Given the description of an element on the screen output the (x, y) to click on. 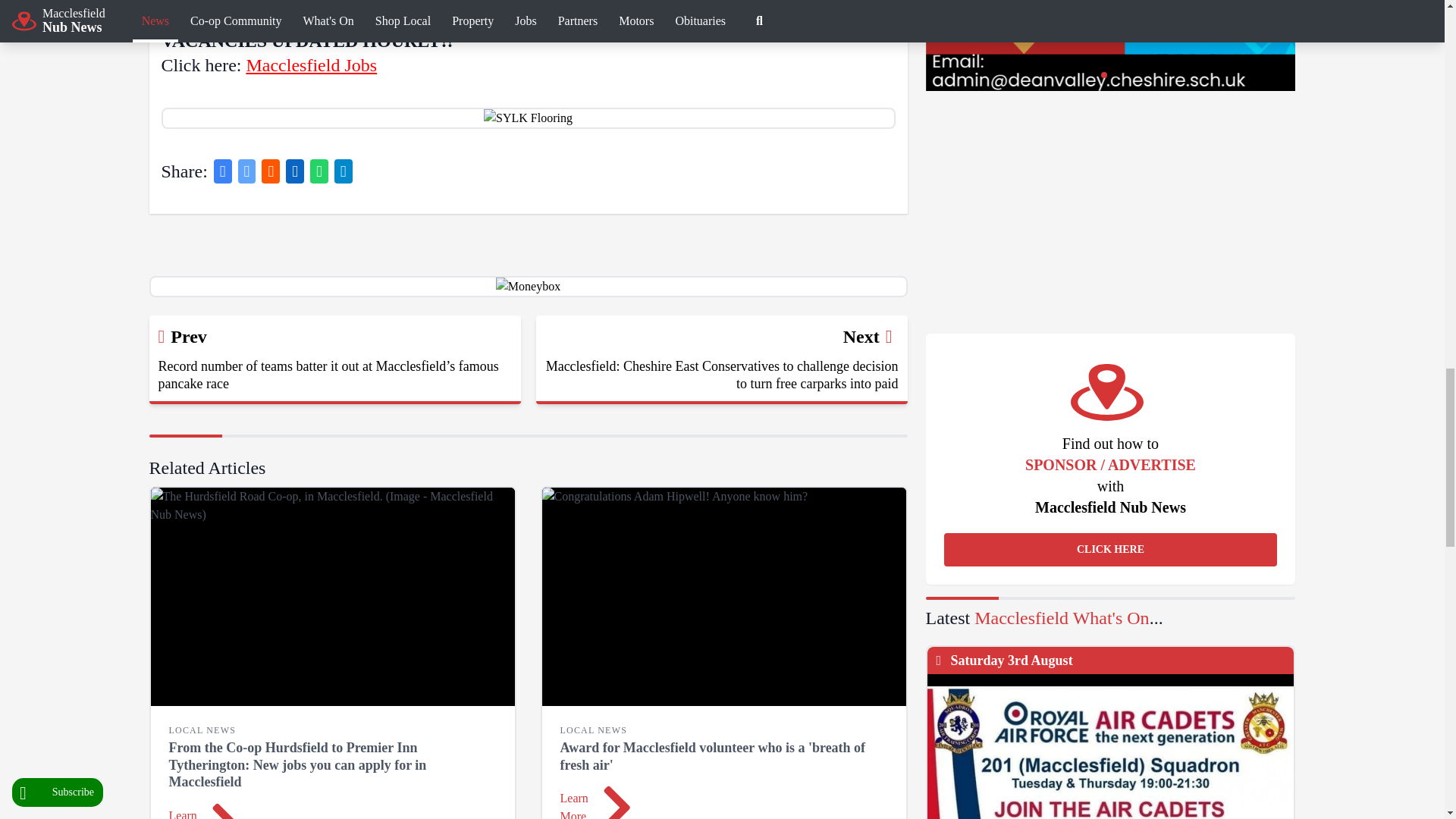
On two times a week in Macclesfield.  (1110, 746)
Moneybox (528, 286)
SYLK Flooring (527, 117)
Congratulations Adam Hipwell! Anyone know him?  (723, 596)
